Given the description of an element on the screen output the (x, y) to click on. 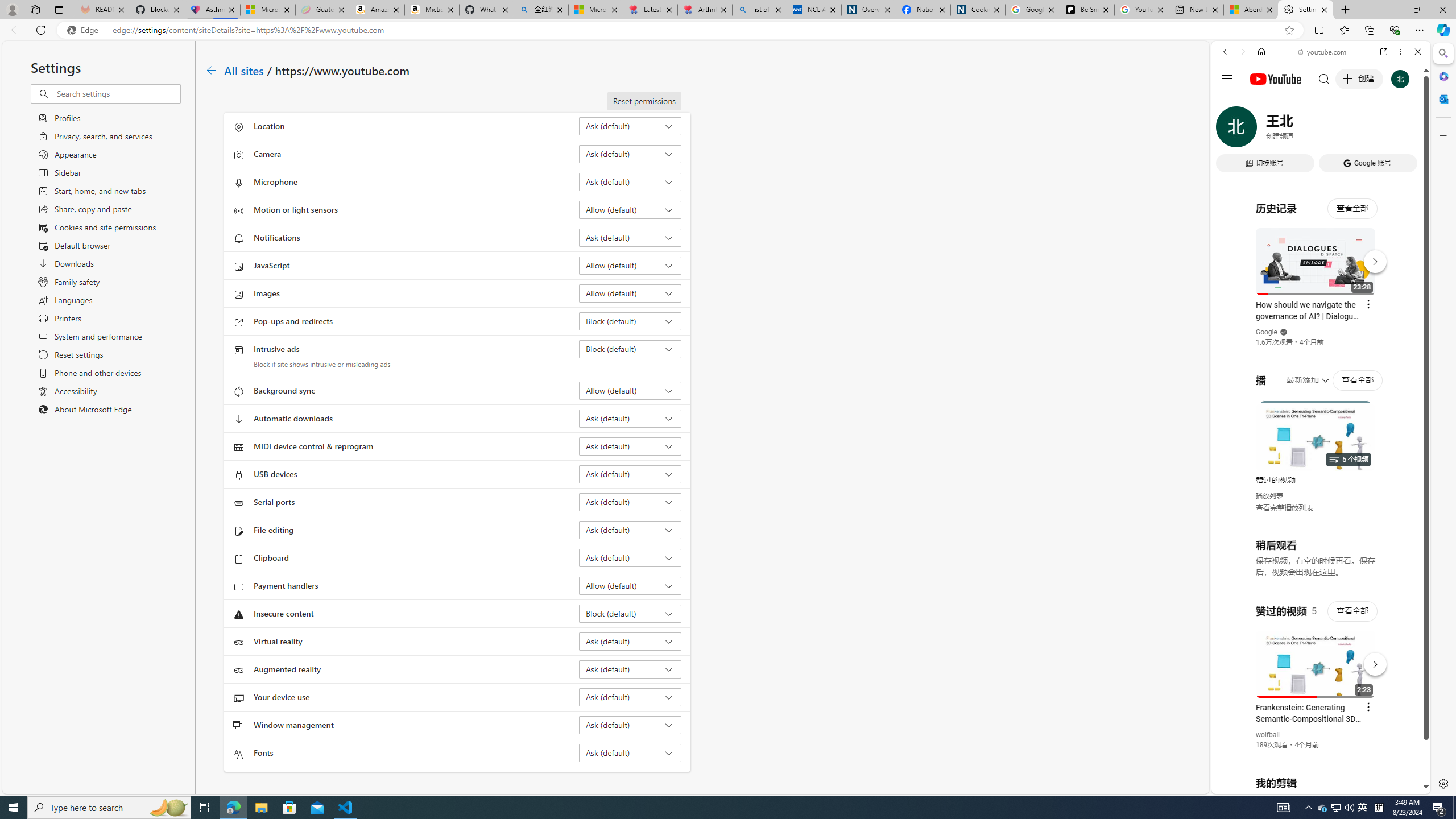
Automatic downloads Ask (default) (630, 418)
Web scope (1230, 102)
Google (1320, 281)
USB devices Ask (default) (630, 474)
Close Customize pane (1442, 135)
Reset permissions (644, 100)
#you (1320, 253)
